Given the description of an element on the screen output the (x, y) to click on. 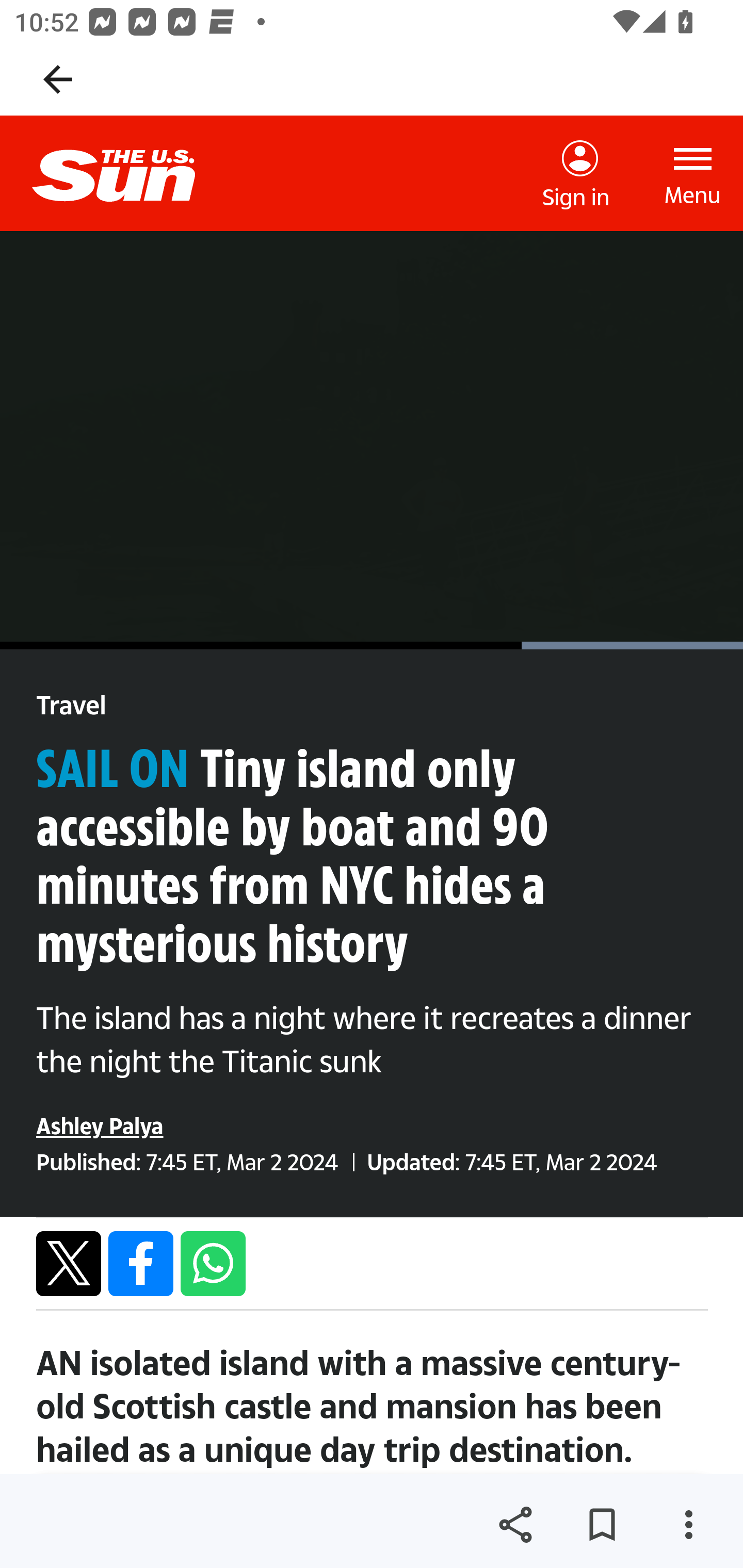
Navigate up (57, 79)
Sign in to The Sun Sign in (576, 173)
The US Sun homepage The Sun (129, 172)
Open Navigation Menu (693, 172)
Travel (71, 705)
Posts by Ashley Palya Ashley Palya (100, 1125)
Share by twitter (69, 1262)
Share by facebook (141, 1262)
Share by whatsapp (212, 1262)
Share (514, 1524)
Save for later (601, 1524)
More options (688, 1524)
